Given the description of an element on the screen output the (x, y) to click on. 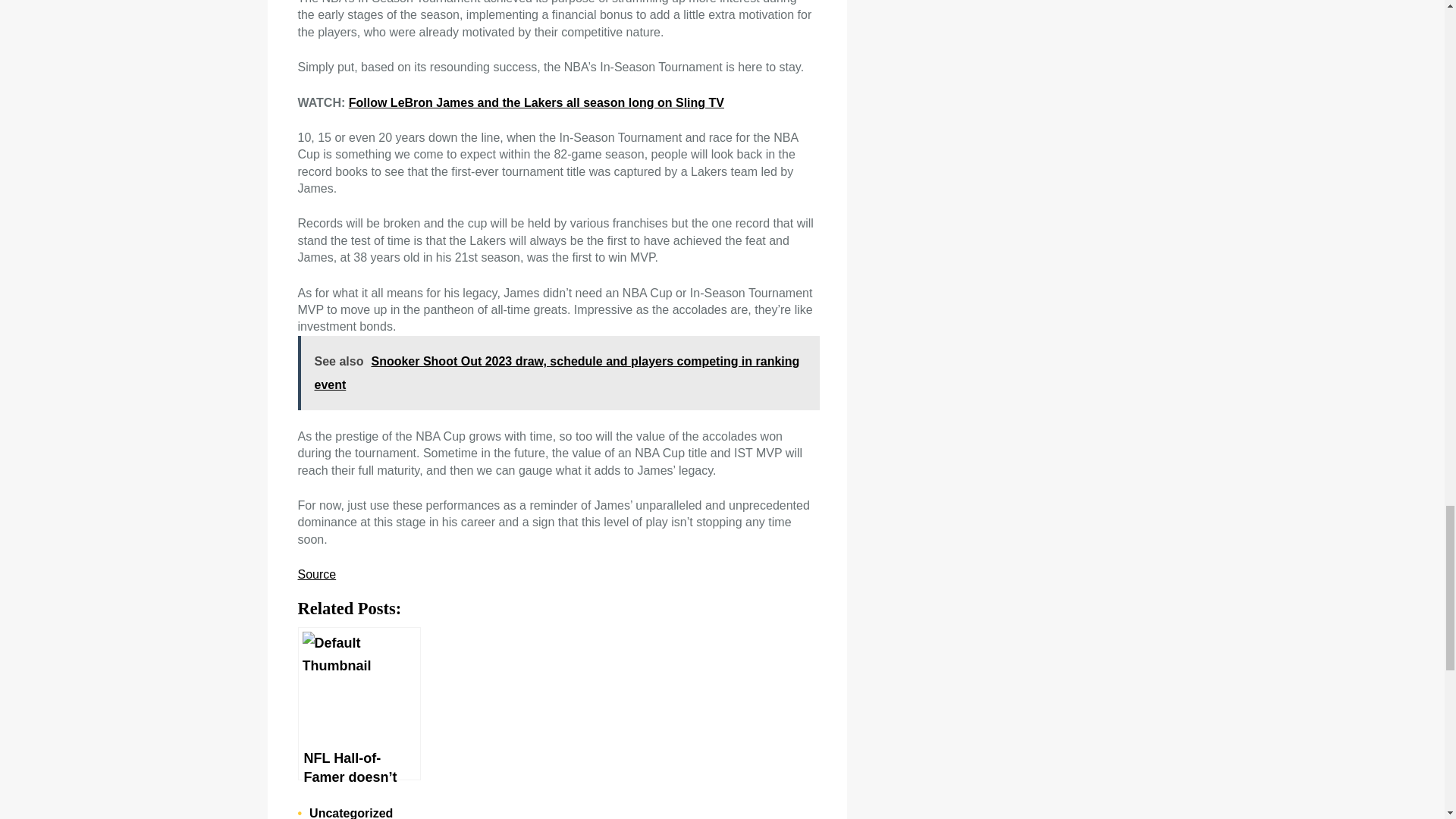
Source (316, 574)
Uncategorized (350, 812)
